Given the description of an element on the screen output the (x, y) to click on. 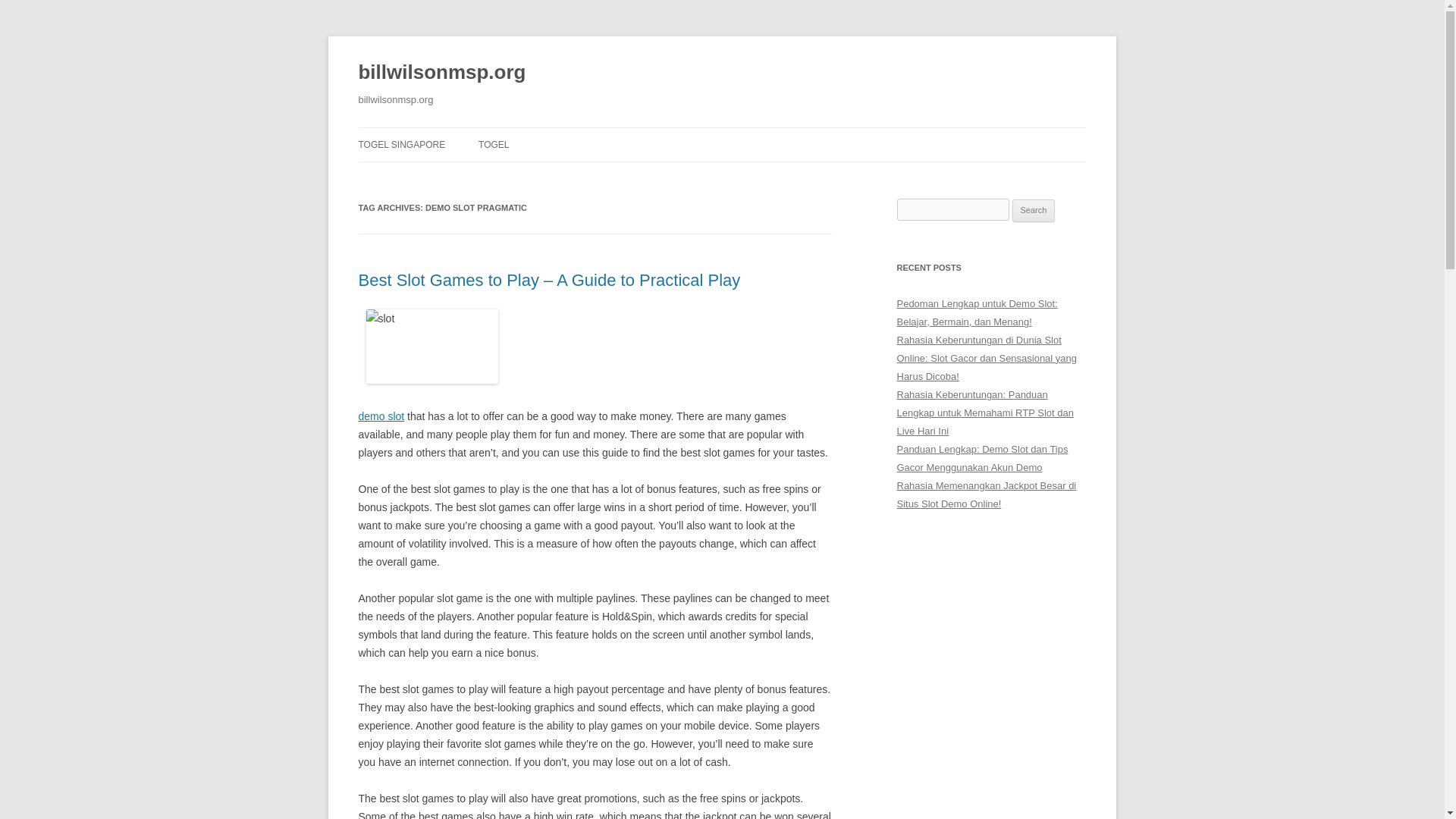
billwilsonmsp.org (441, 72)
Search (1033, 210)
TOGEL (493, 144)
TOGEL SINGAPORE (401, 144)
demo slot (381, 416)
